Given the description of an element on the screen output the (x, y) to click on. 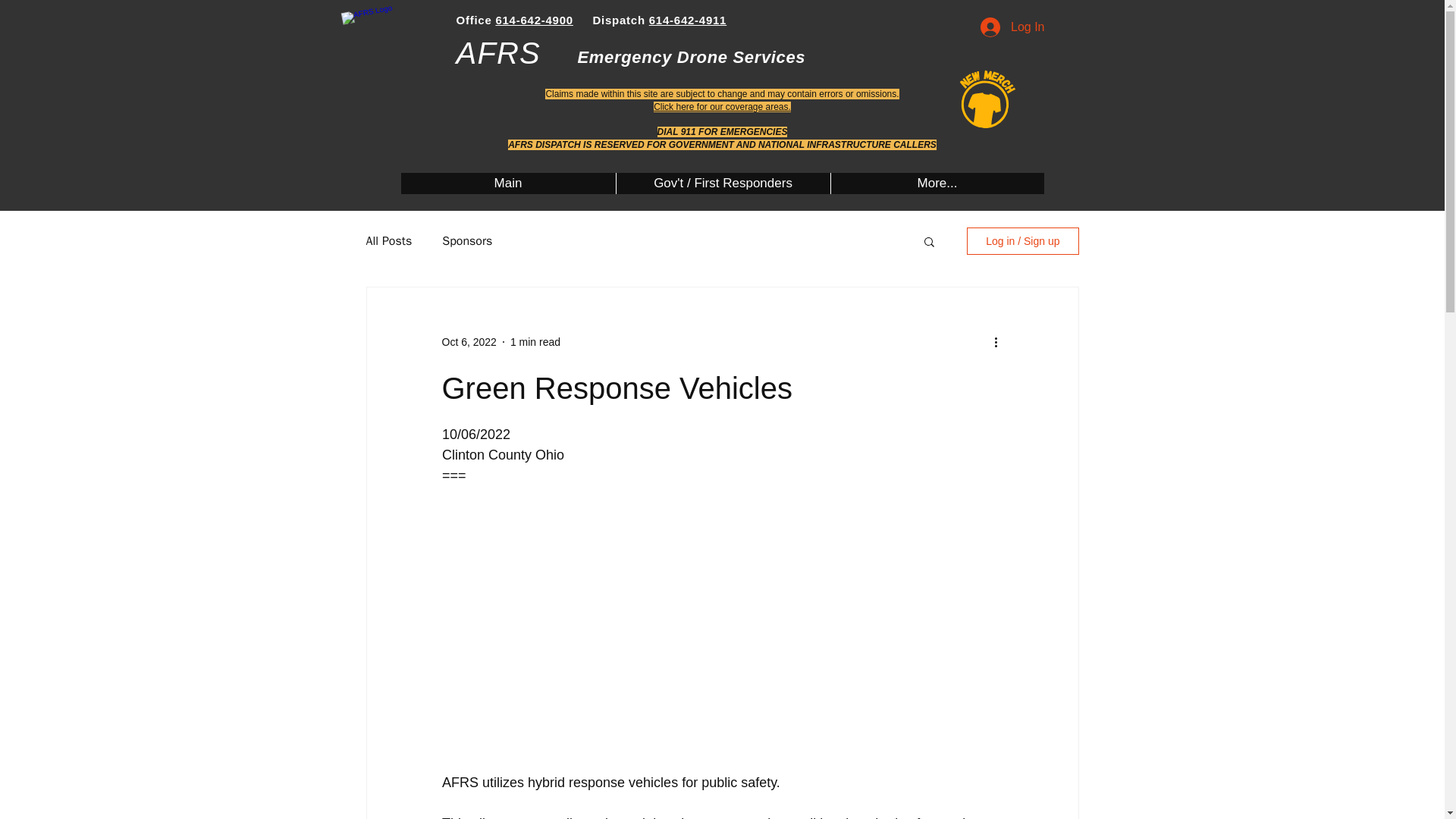
Click here for our coverage areas. (721, 106)
1 min read (535, 340)
Main (507, 183)
614-642-4911 (687, 19)
Log In (1011, 27)
Sponsors (467, 241)
All Posts (388, 241)
614-642-4900 (533, 19)
Oct 6, 2022 (468, 340)
